Given the description of an element on the screen output the (x, y) to click on. 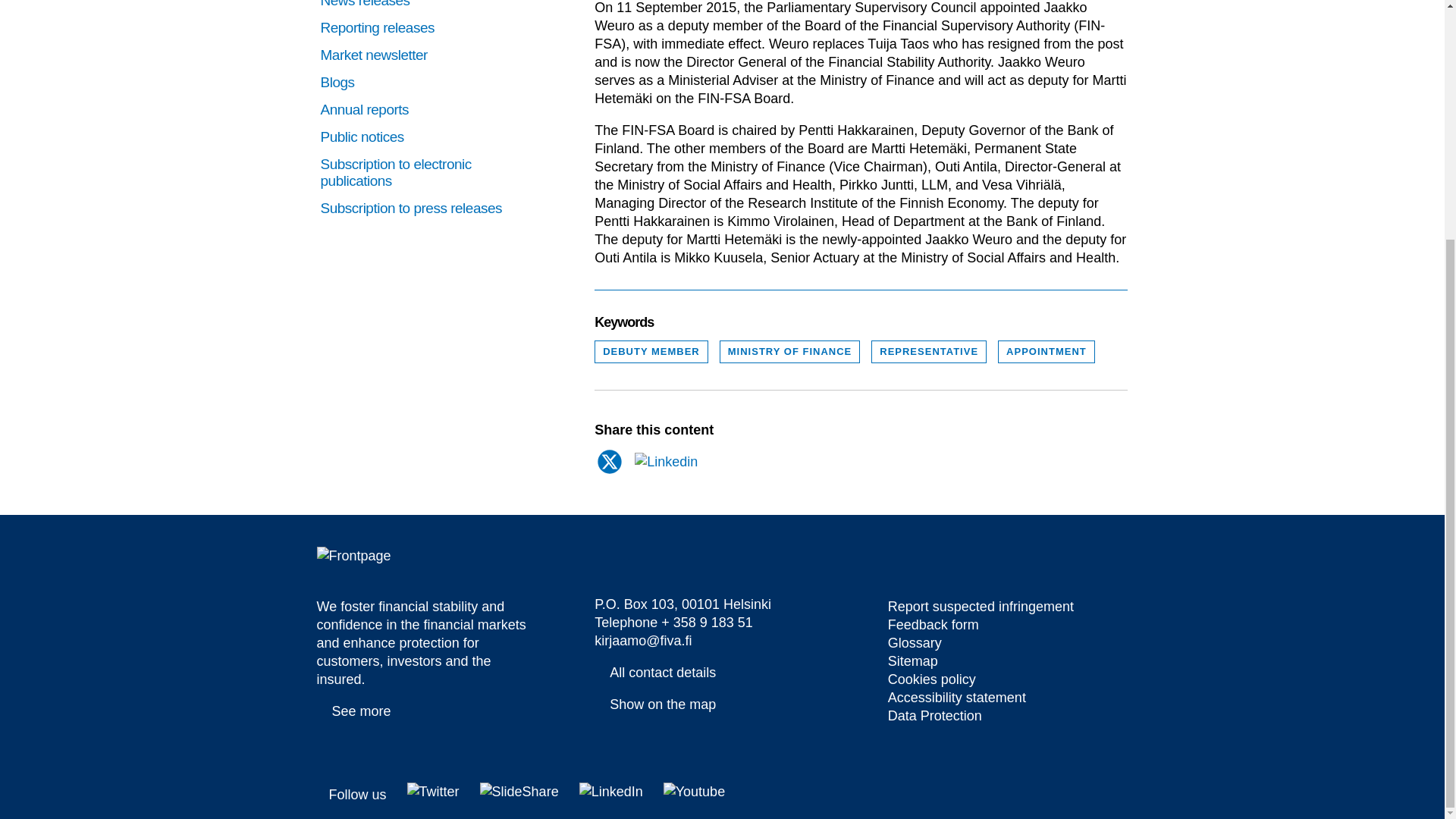
Sitemap (904, 660)
Accessibility statement (949, 697)
Accessibility statement (926, 715)
See more (354, 710)
Open keyword search using term Representative (928, 351)
Sitemap (923, 679)
Open keyword search using term appointment (1045, 351)
Glossary (907, 642)
All contact details (655, 671)
